Given the description of an element on the screen output the (x, y) to click on. 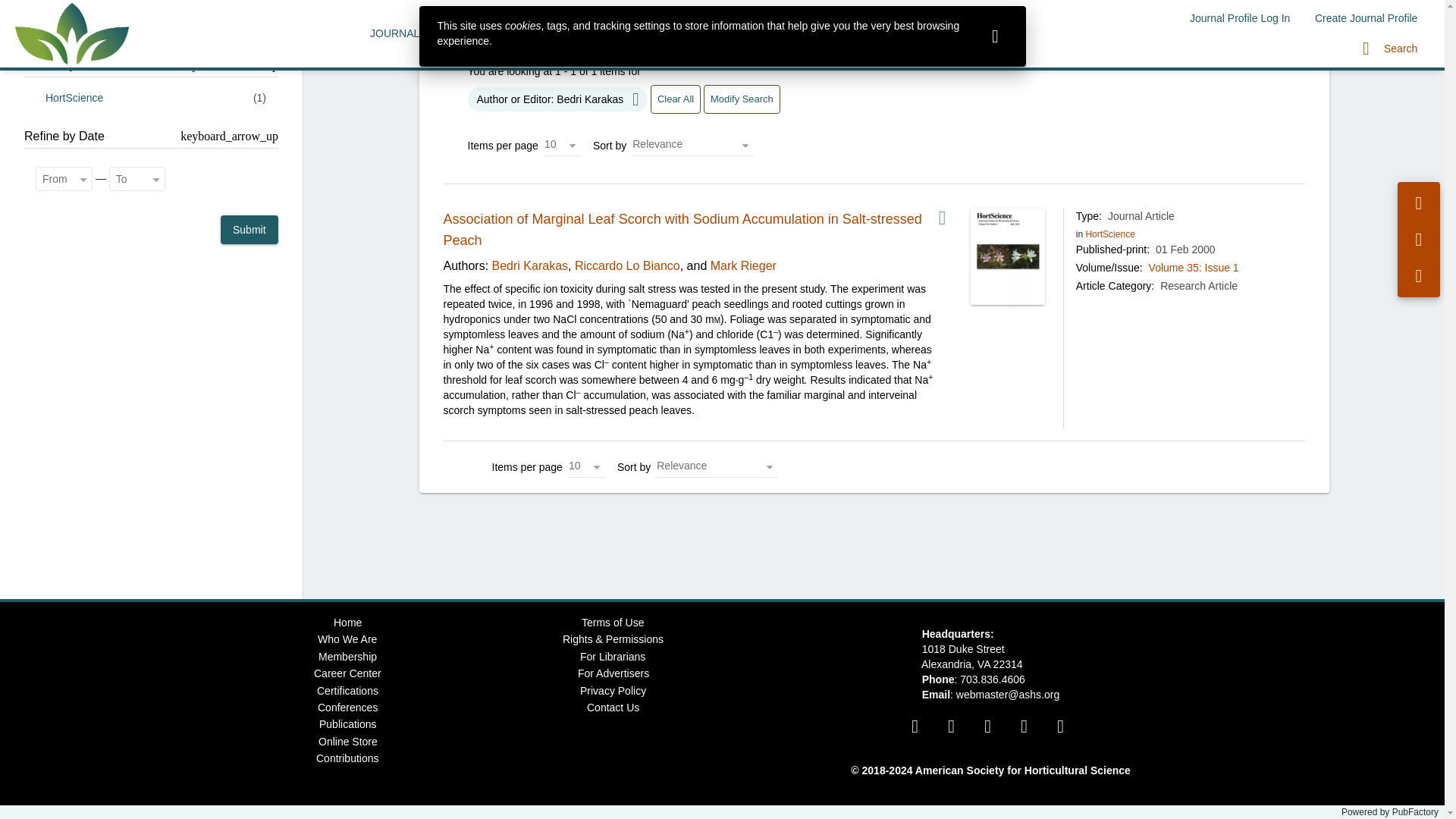
Create Journal Profile (1366, 18)
STORE (918, 32)
Jump to Content (40, 8)
Search (1390, 48)
ADVERTISERS (657, 32)
ABOUT ASHS (842, 32)
FAQS (582, 32)
PUBLISH WITH US (497, 32)
ASHS HOME (751, 32)
ADVERTISERS (657, 32)
Journal Profile Log In (1239, 18)
ABOUT ASHS (842, 32)
Dismiss this warning (994, 36)
JOURNALS (398, 32)
PUBLISH WITH US (497, 32)
